Given the description of an element on the screen output the (x, y) to click on. 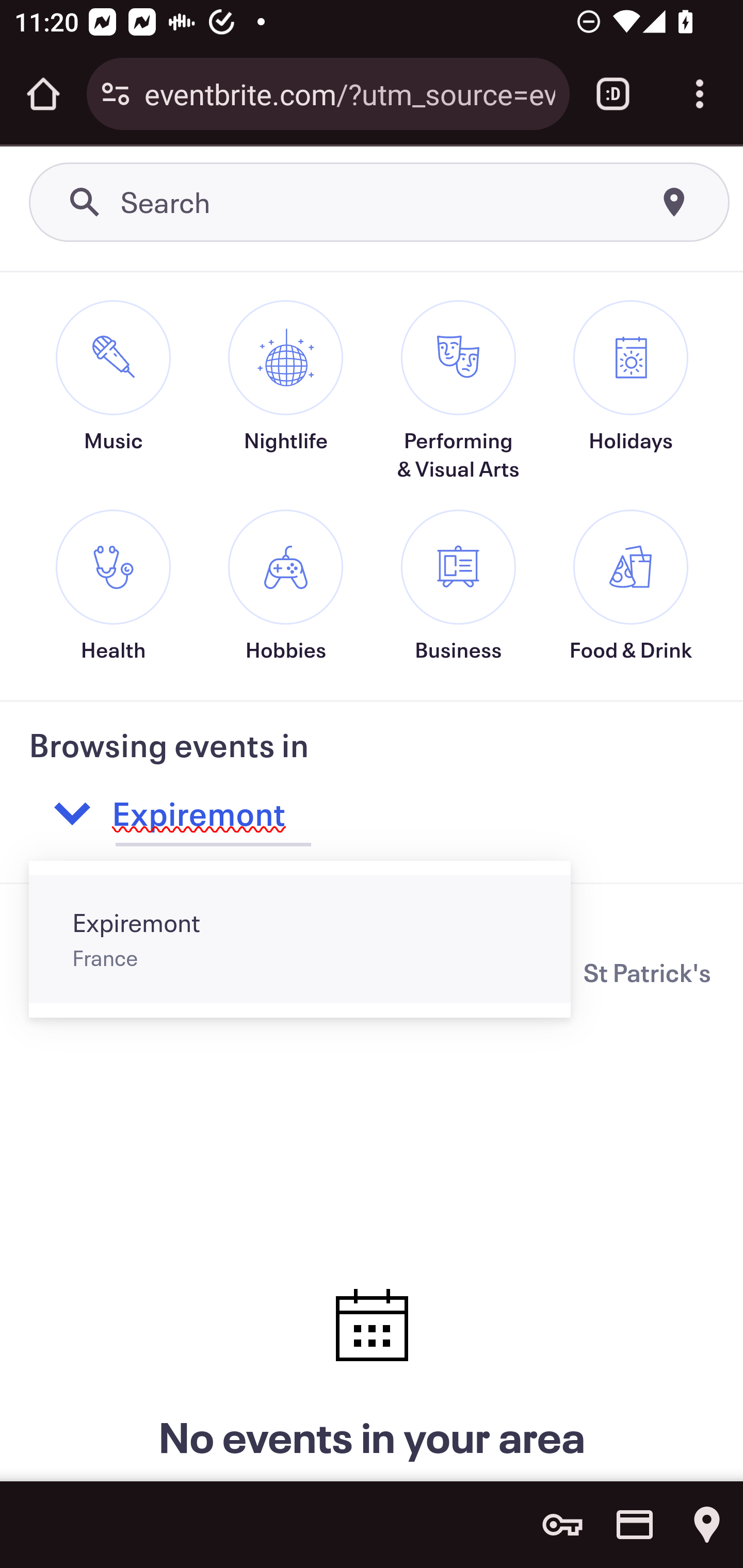
Open the home page (43, 93)
Connection is secure (115, 93)
Switch or close tabs (612, 93)
Customize and control Google Chrome (699, 93)
Search (379, 203)
Music (112, 405)
Nightlife (285, 405)
Performing & Visual Arts (458, 392)
Holidays (630, 405)
Health (112, 588)
Hobbies (285, 588)
Business (458, 588)
Food & Drink (630, 588)
Expiremont (339, 814)
Expiremont France (299, 939)
St Patrick's Day (648, 973)
Show saved passwords and password options (562, 1524)
Show saved payment methods (634, 1524)
Show saved addresses (706, 1524)
